Given the description of an element on the screen output the (x, y) to click on. 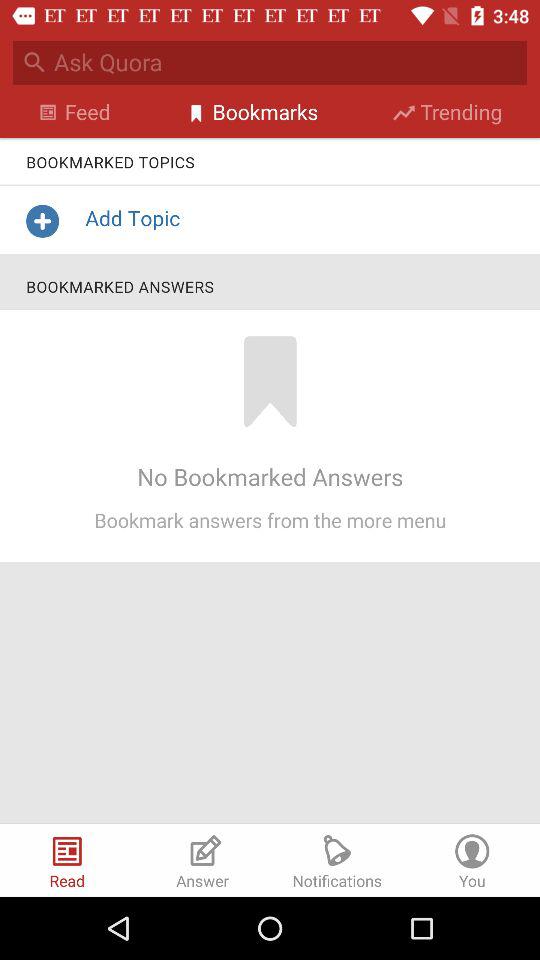
select the icon left to answer (67, 848)
click the search button from the top left (35, 62)
click the icon on the bottom right corner of the web page (472, 848)
